Given the description of an element on the screen output the (x, y) to click on. 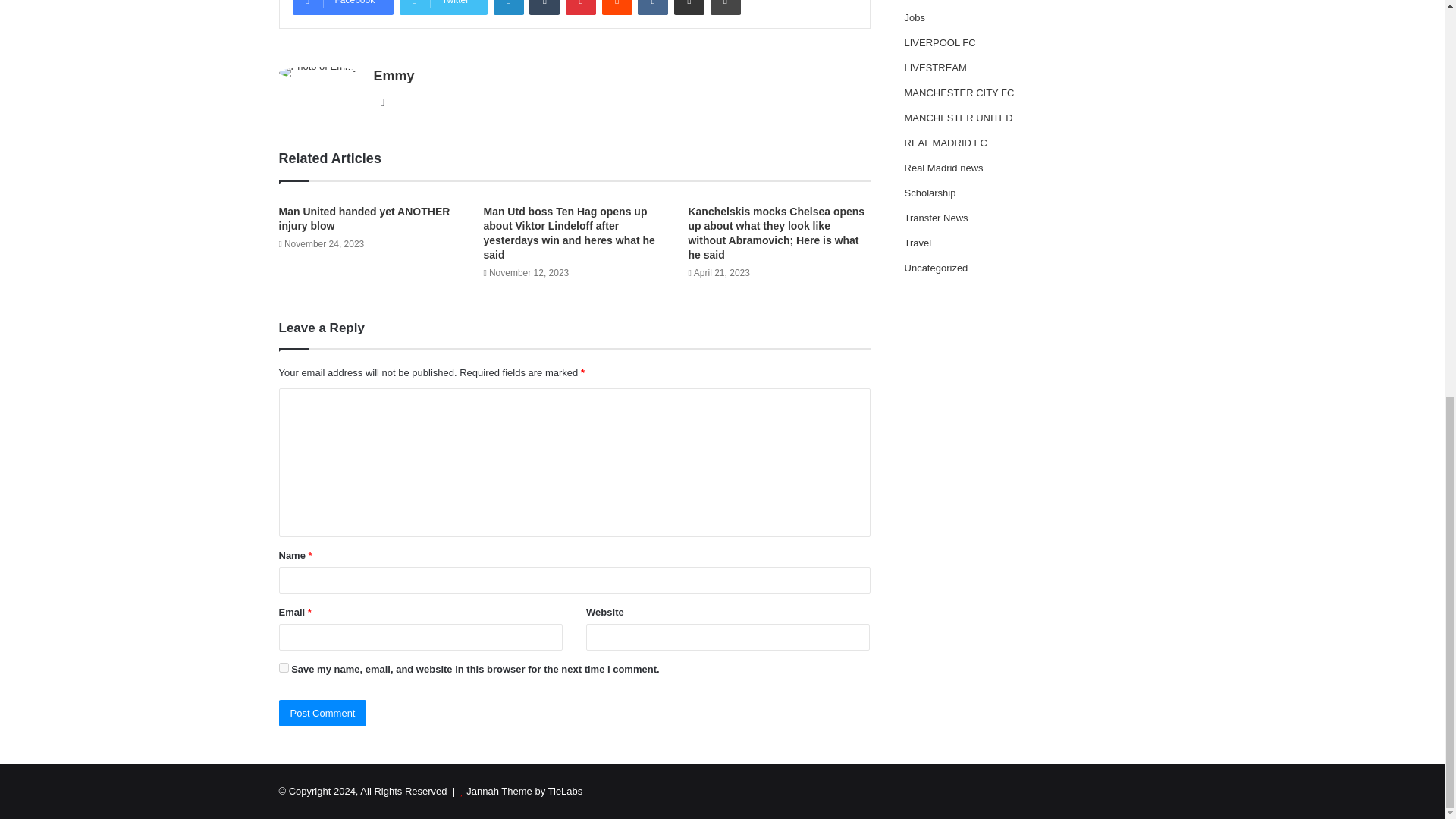
Tumblr (544, 7)
Reddit (616, 7)
Man United handed yet ANOTHER injury blow (364, 218)
VKontakte (652, 7)
LinkedIn (508, 7)
Post Comment (322, 713)
Share via Email (689, 7)
Reddit (616, 7)
Share via Email (689, 7)
yes (283, 667)
Facebook (343, 7)
Print (725, 7)
Tumblr (544, 7)
Twitter (442, 7)
